Given the description of an element on the screen output the (x, y) to click on. 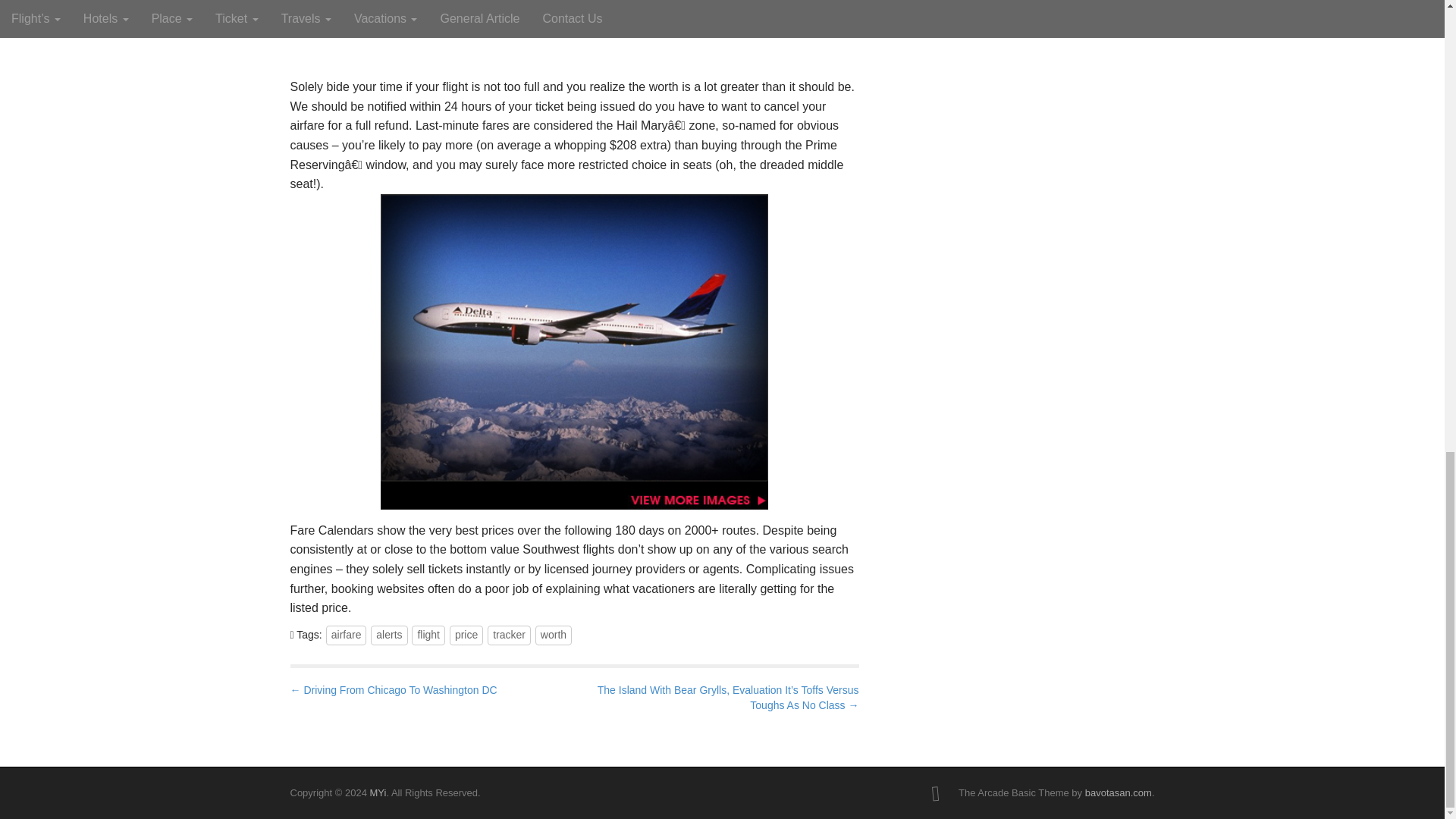
flight (428, 635)
price (466, 635)
airfare (346, 635)
alerts (389, 635)
tracker (509, 635)
